Given the description of an element on the screen output the (x, y) to click on. 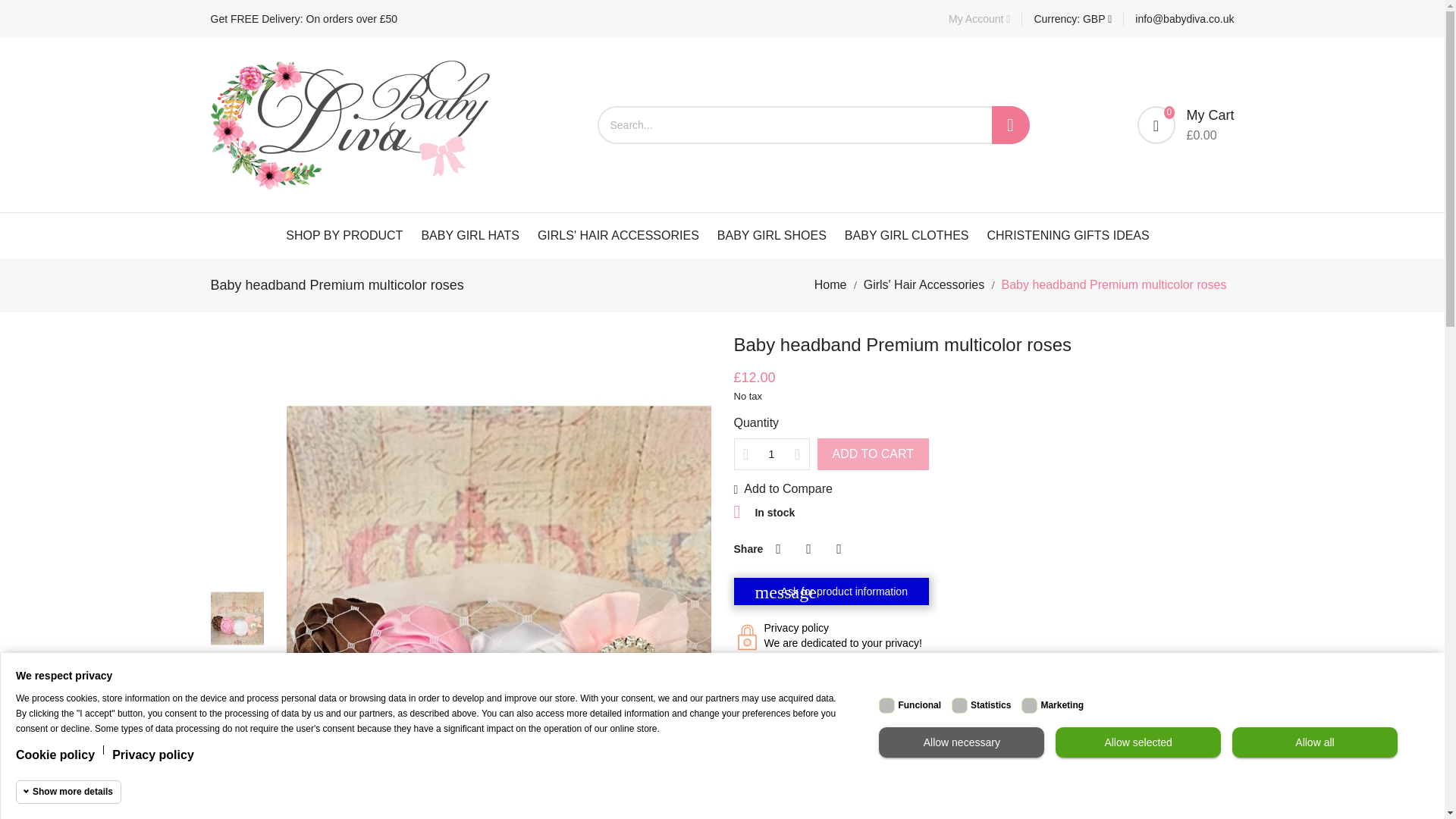
SHOP BY PRODUCT (344, 235)
on (1029, 705)
Share (777, 548)
Add to Compare (782, 489)
My Account (979, 18)
Tweet (808, 548)
on (960, 705)
Pinterest (838, 548)
on (887, 705)
Currency: GBP (1072, 18)
